Given the description of an element on the screen output the (x, y) to click on. 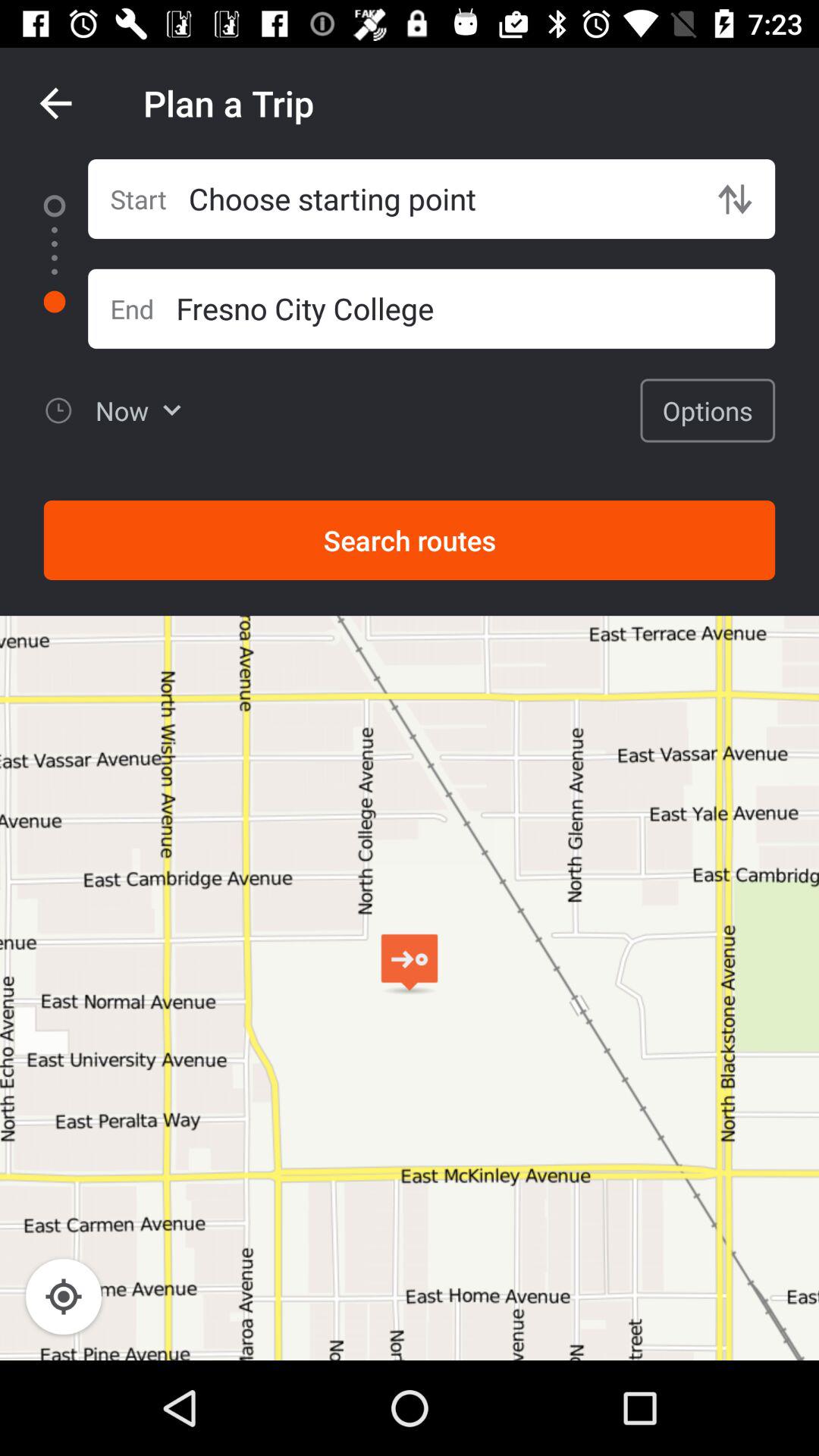
flip to search routes icon (409, 540)
